Given the description of an element on the screen output the (x, y) to click on. 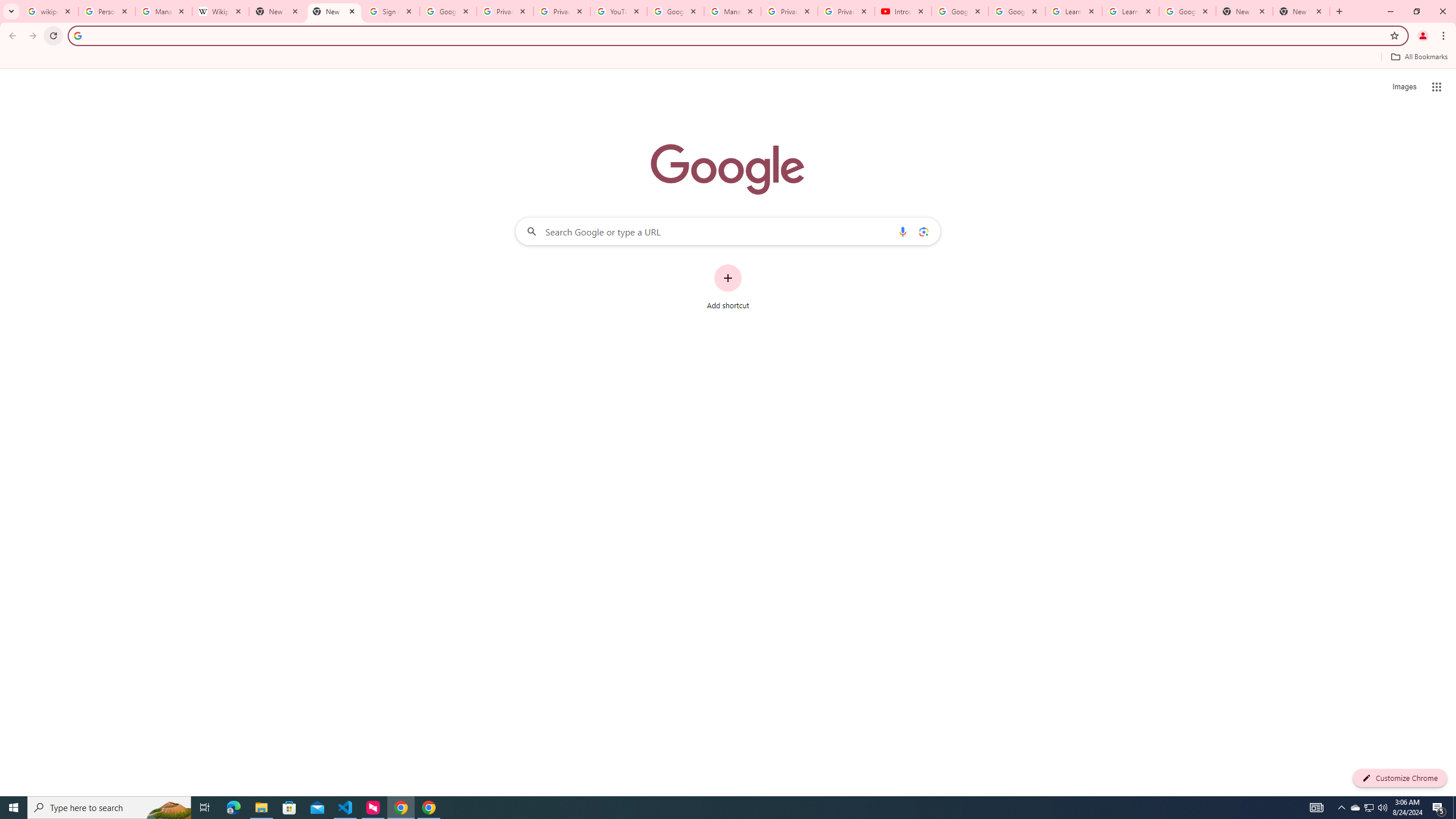
New Tab (1244, 11)
Google Drive: Sign-in (447, 11)
Manage your Location History - Google Search Help (163, 11)
New Tab (1301, 11)
